Given the description of an element on the screen output the (x, y) to click on. 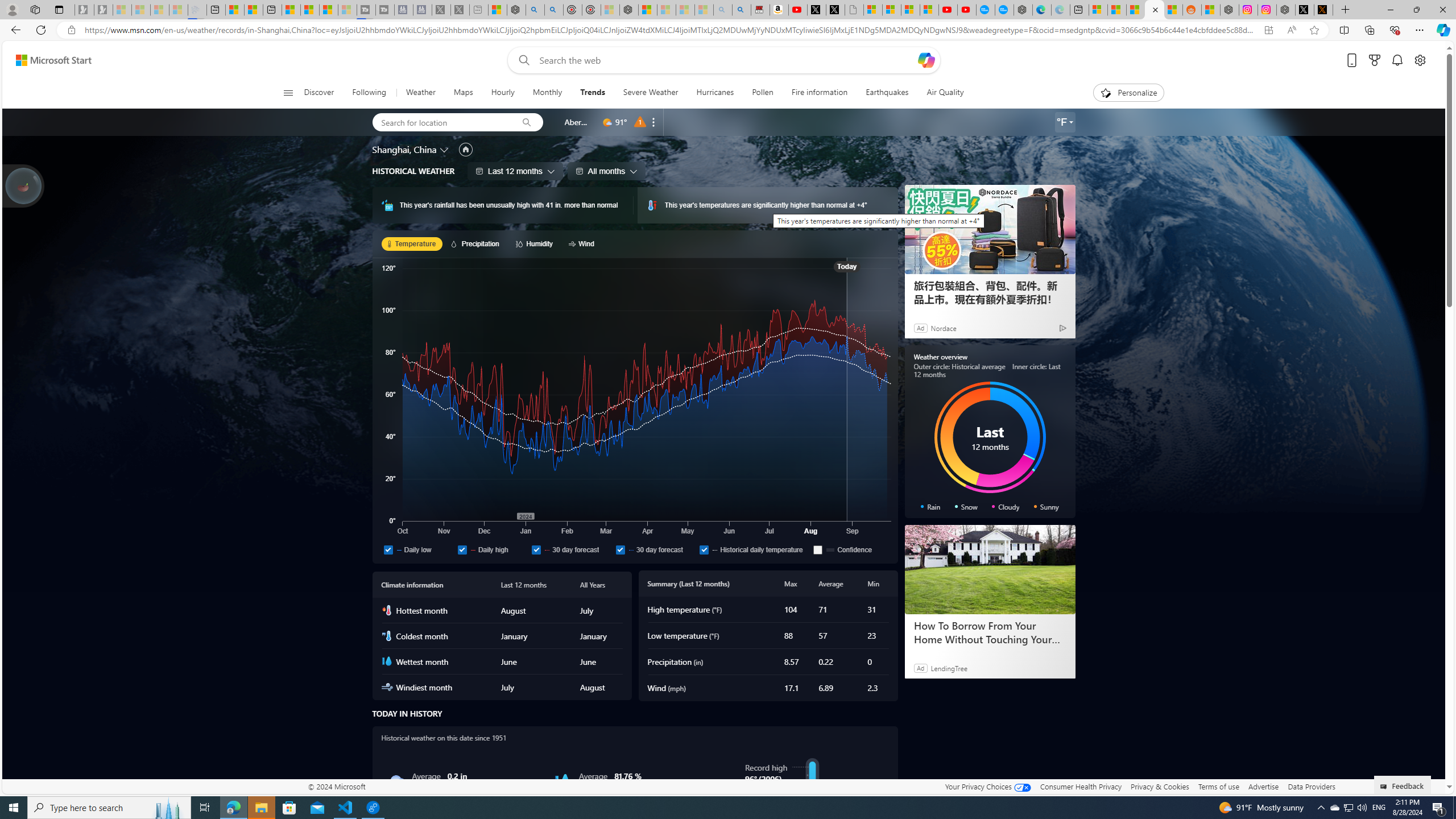
Discover (319, 92)
Nordace (@NordaceOfficial) / X (1304, 9)
Monthly (547, 92)
Nordace - Summer Adventures 2024 (1285, 9)
Class: feedback_link_icon-DS-EntryPoint1-1 (1384, 786)
New Tab (1346, 9)
Microsoft Start (328, 9)
Join us in planting real trees to help our planet! (23, 184)
Shanghai, China Weather trends | Microsoft Weather (1173, 9)
Set as primary location (465, 149)
Precipitation (476, 243)
Skip to footer (46, 59)
